Given the description of an element on the screen output the (x, y) to click on. 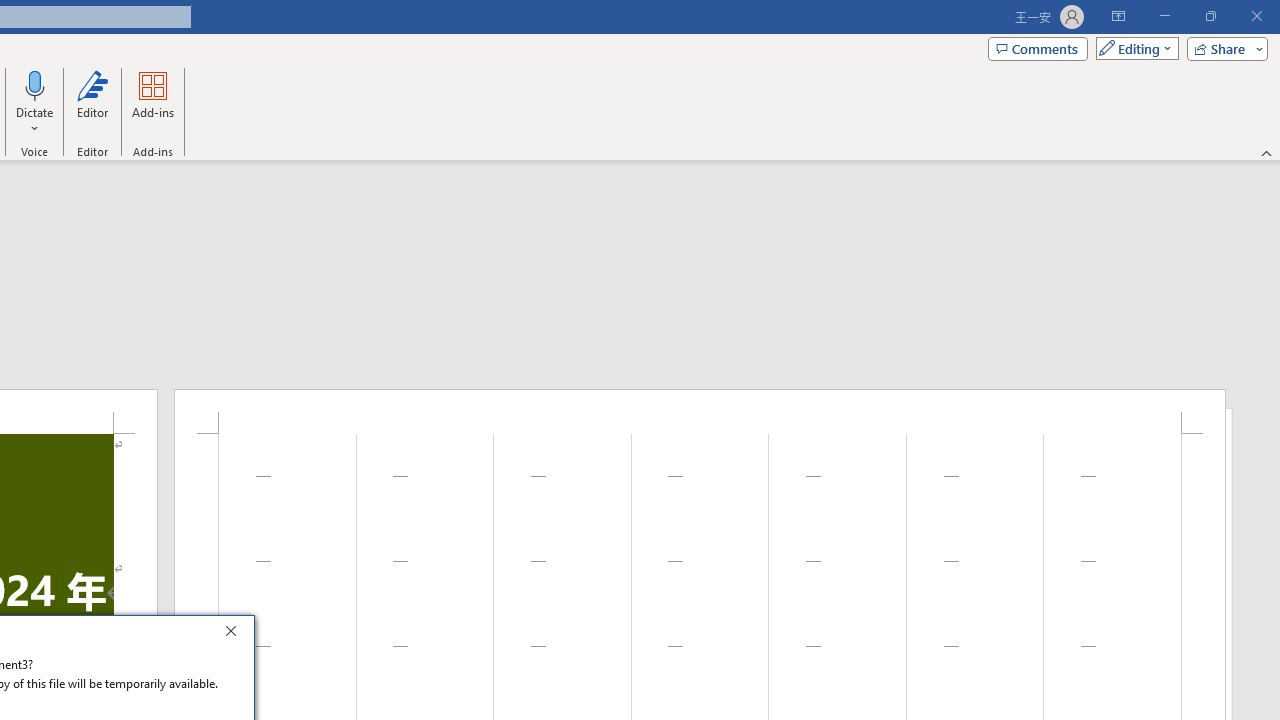
Dictate (35, 84)
Header -Section 1- (700, 411)
Share (1223, 48)
Close (236, 633)
Ribbon Display Options (1118, 16)
Comments (1038, 48)
Minimize (1164, 16)
Mode (1133, 47)
Editor (92, 102)
Dictate (35, 102)
Collapse the Ribbon (1267, 152)
Restore Down (1210, 16)
